Given the description of an element on the screen output the (x, y) to click on. 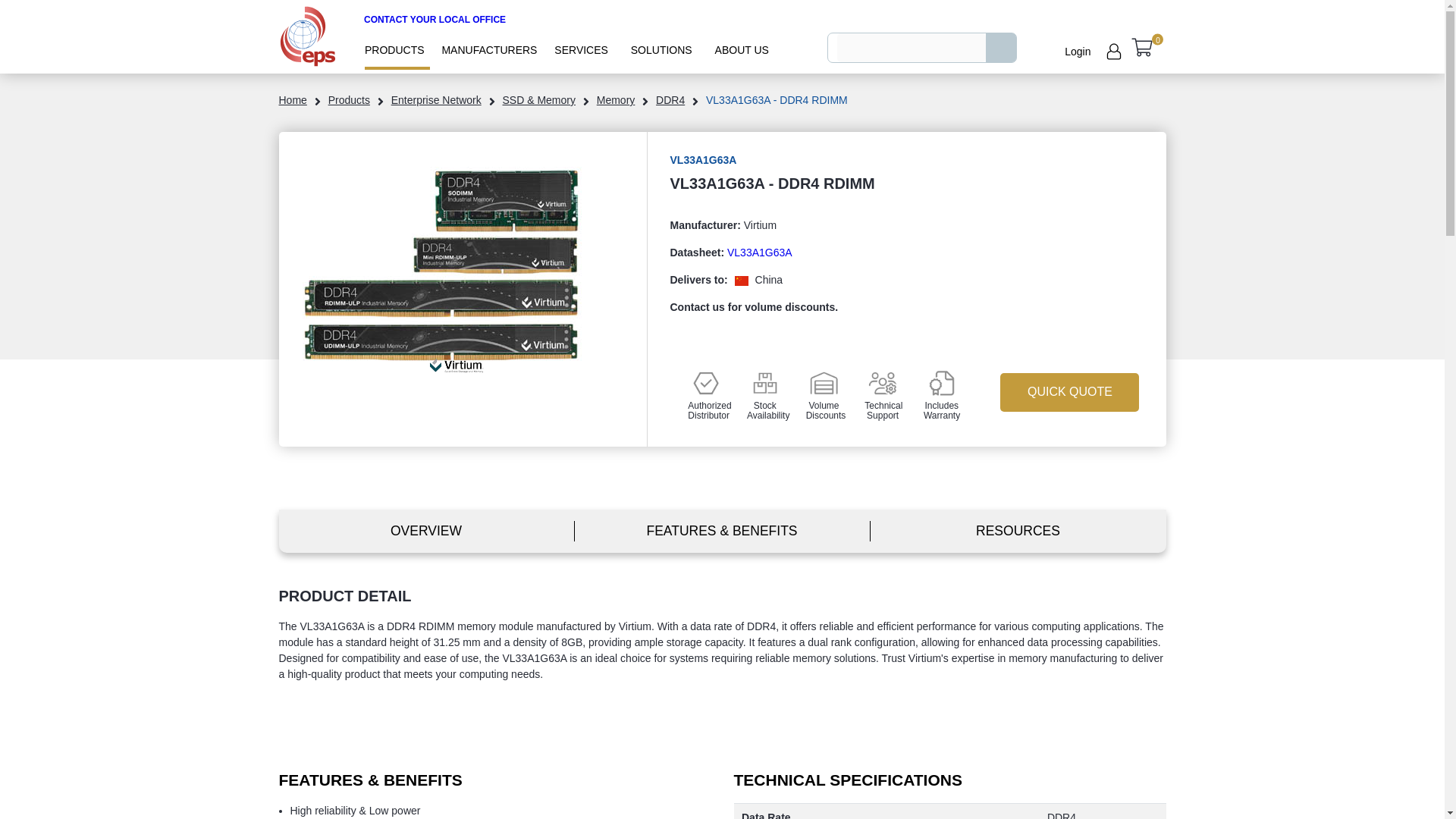
VL33A1G63A - DDR4 RDIMM (440, 268)
CONTACT YOUR LOCAL OFFICE (434, 19)
Search (1000, 47)
DDR4 (670, 100)
products (349, 100)
Memory (615, 100)
Enterprise Network (436, 100)
